Given the description of an element on the screen output the (x, y) to click on. 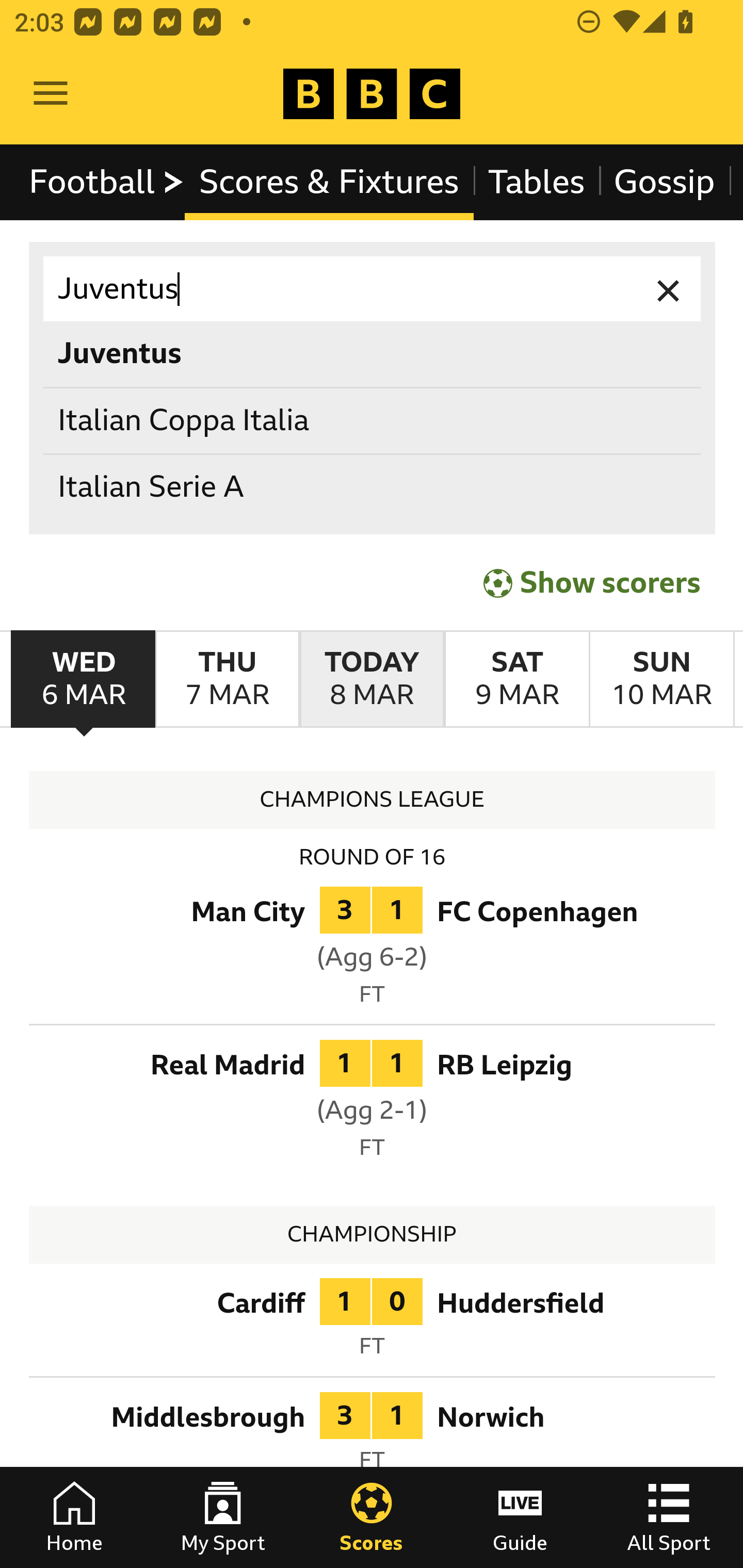
Open Menu (50, 93)
Football  (106, 181)
Scores & Fixtures (329, 181)
Tables (536, 181)
Gossip (664, 181)
Juventus (372, 289)
Clear input (669, 289)
Italian Coppa Italia (372, 419)
Italian Serie A (372, 488)
Show scorers (591, 582)
ThursdayMarch 7th Thursday March 7th (227, 678)
TodayMarch 8th Today March 8th (371, 678)
SaturdayMarch 9th Saturday March 9th (516, 678)
SundayMarch 10th Sunday March 10th (661, 678)
68420958 Middlesbrough 3 Norwich City 1 Full Time (372, 1436)
Home (74, 1517)
My Sport (222, 1517)
Guide (519, 1517)
All Sport (668, 1517)
